Given the description of an element on the screen output the (x, y) to click on. 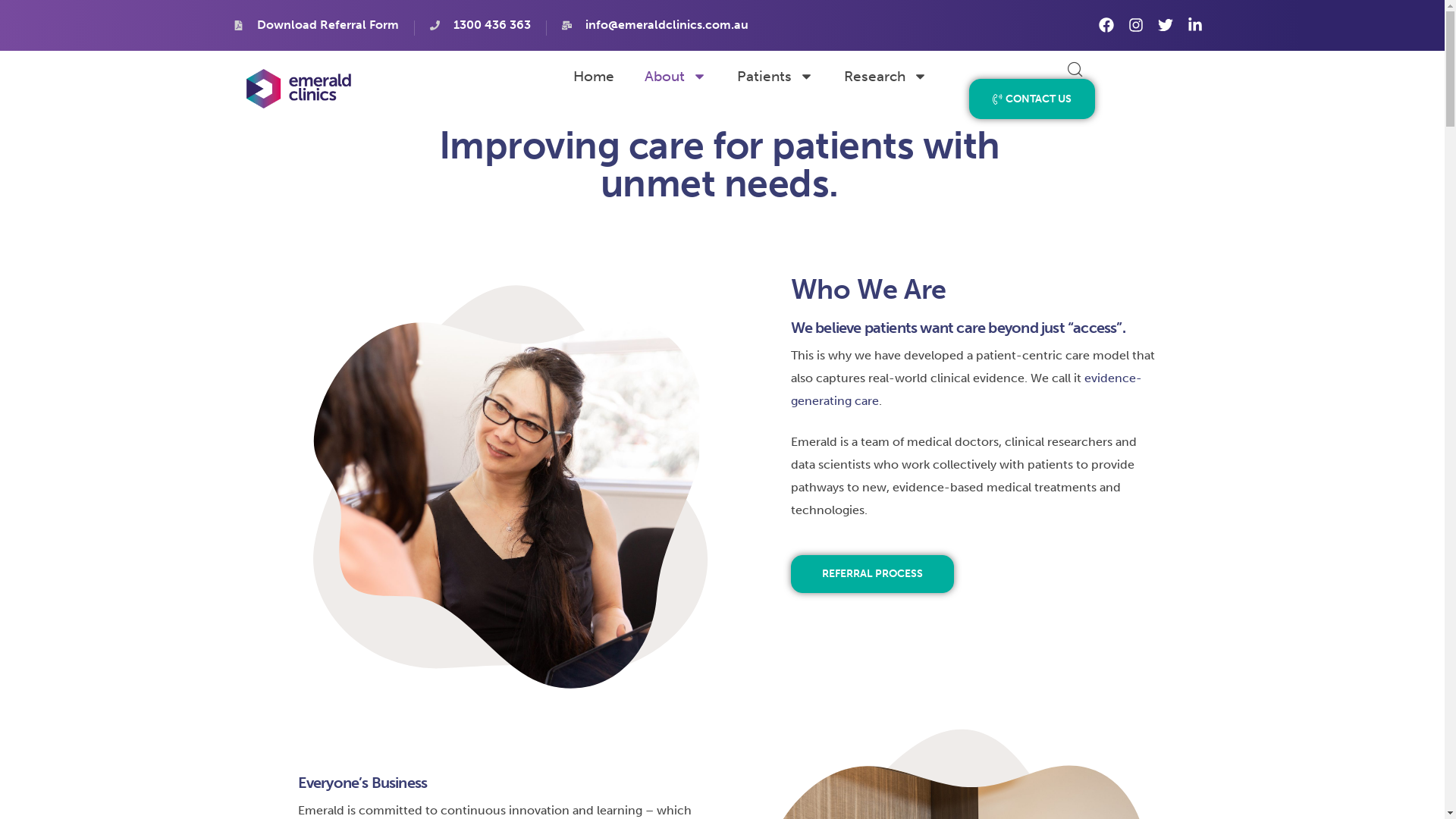
1300 436 363 Element type: text (479, 25)
info@emeraldclinics.com.au Element type: text (654, 25)
evidence-generating care Element type: text (965, 388)
Patients Element type: text (774, 76)
About Element type: text (675, 76)
Research Element type: text (885, 76)
Download Referral Form Element type: text (315, 25)
Home Element type: text (593, 76)
CONTACT US Element type: text (1032, 98)
REFERRAL PROCESS Element type: text (871, 574)
